Given the description of an element on the screen output the (x, y) to click on. 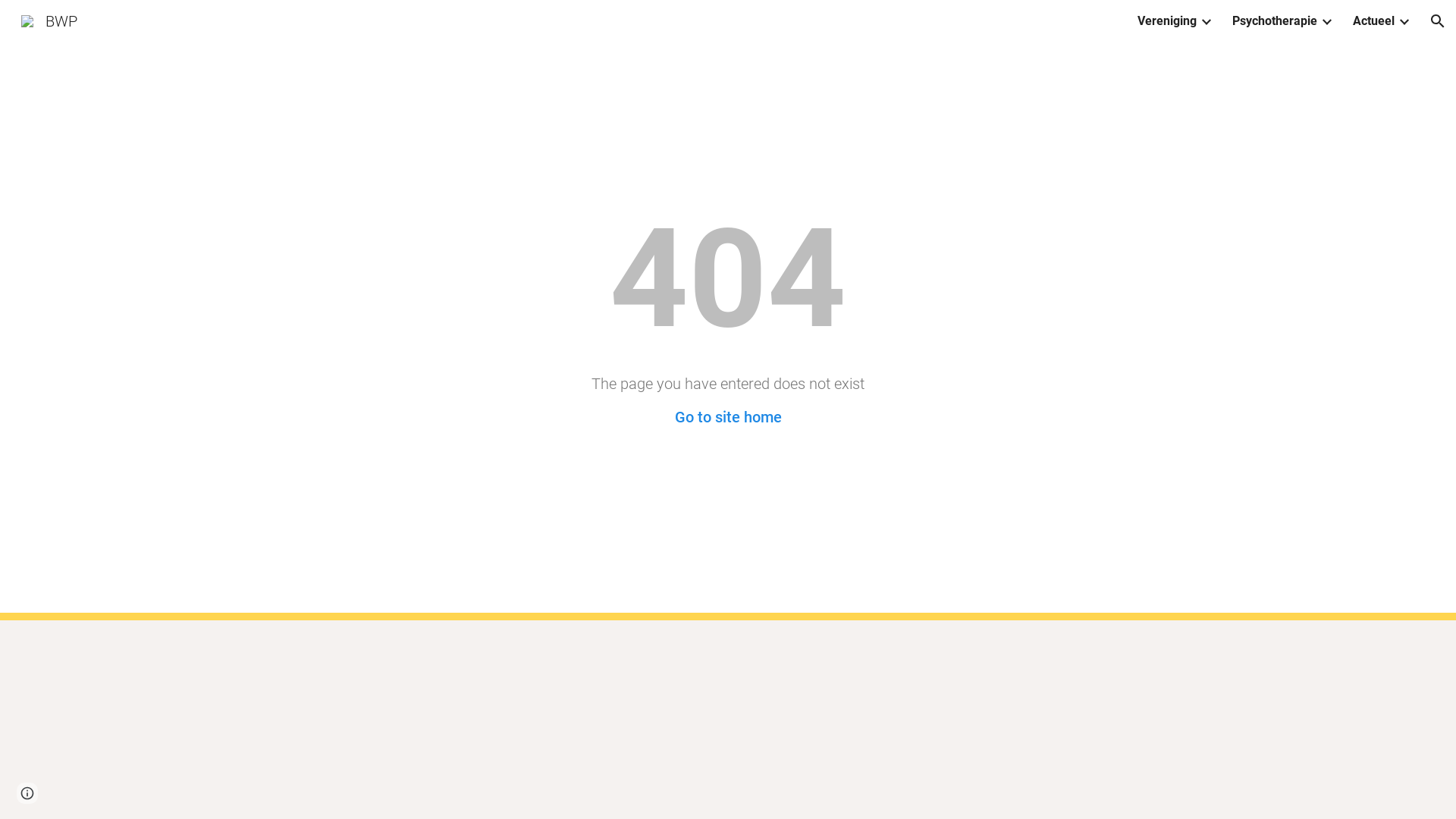
Expand/Collapse Element type: hover (1326, 20)
Go to site home Element type: text (727, 416)
Actueel Element type: text (1373, 20)
Expand/Collapse Element type: hover (1205, 20)
Psychotherapie Element type: text (1274, 20)
BWP Element type: text (49, 19)
Vereniging Element type: text (1166, 20)
Expand/Collapse Element type: hover (1403, 20)
